Given the description of an element on the screen output the (x, y) to click on. 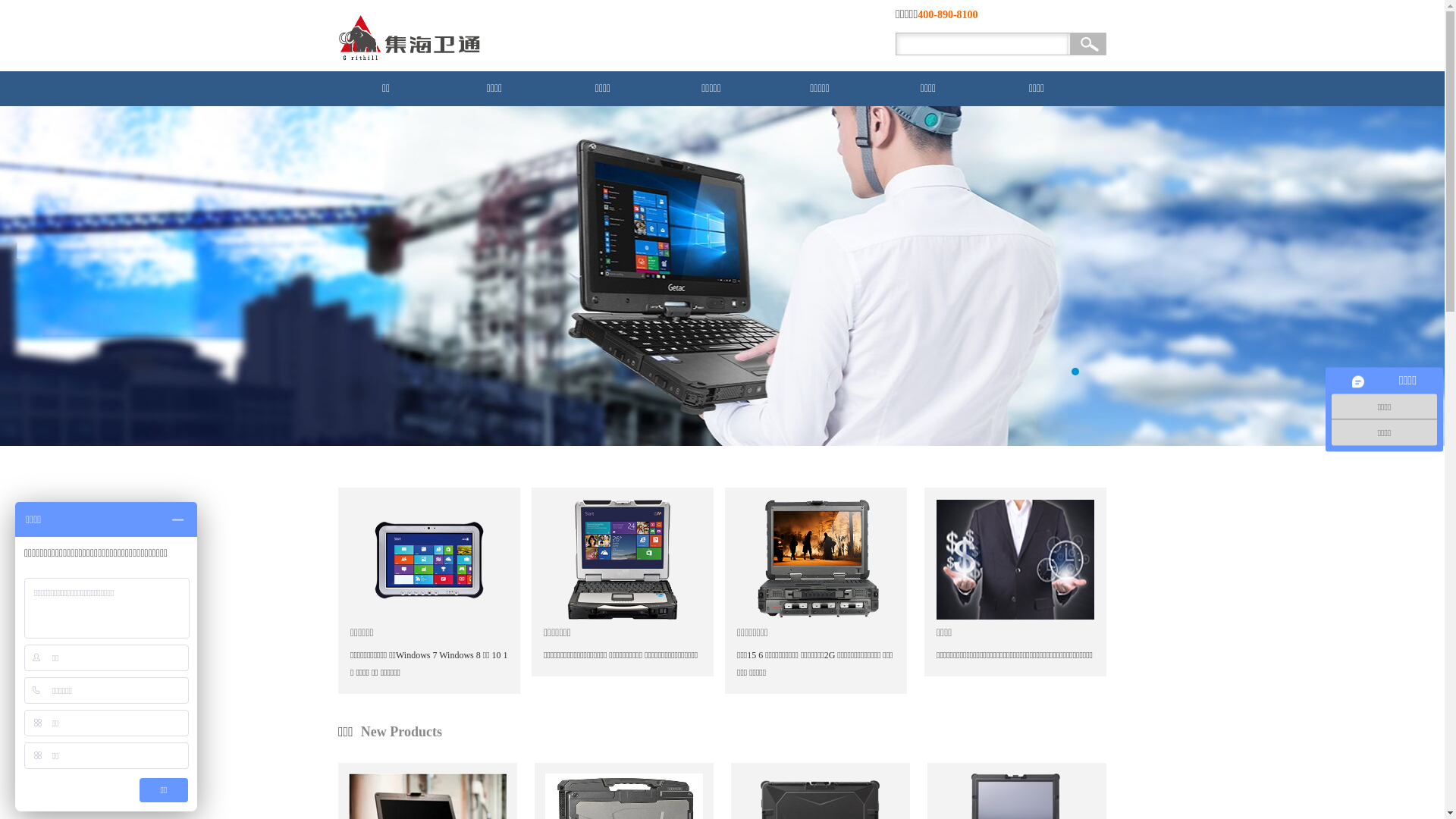
1 Element type: text (1074, 371)
